Given the description of an element on the screen output the (x, y) to click on. 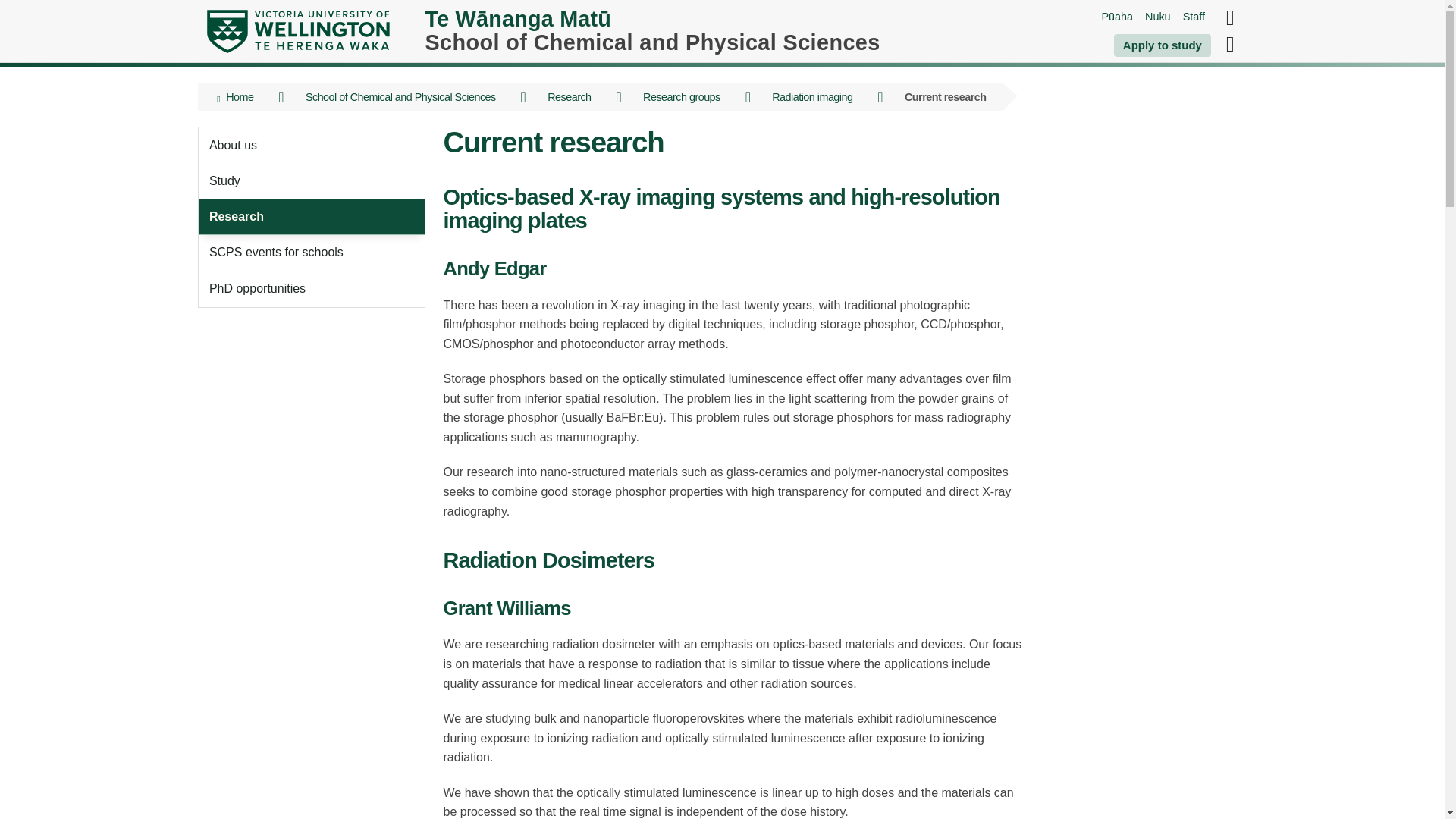
Nuku (1157, 16)
Apply to study (1162, 45)
Apply to study (1162, 45)
Victoria University of Wellington homepage (297, 31)
Open Staff intranet - Ipurangiroto in a new tab (1193, 16)
Staff (1193, 16)
